Given the description of an element on the screen output the (x, y) to click on. 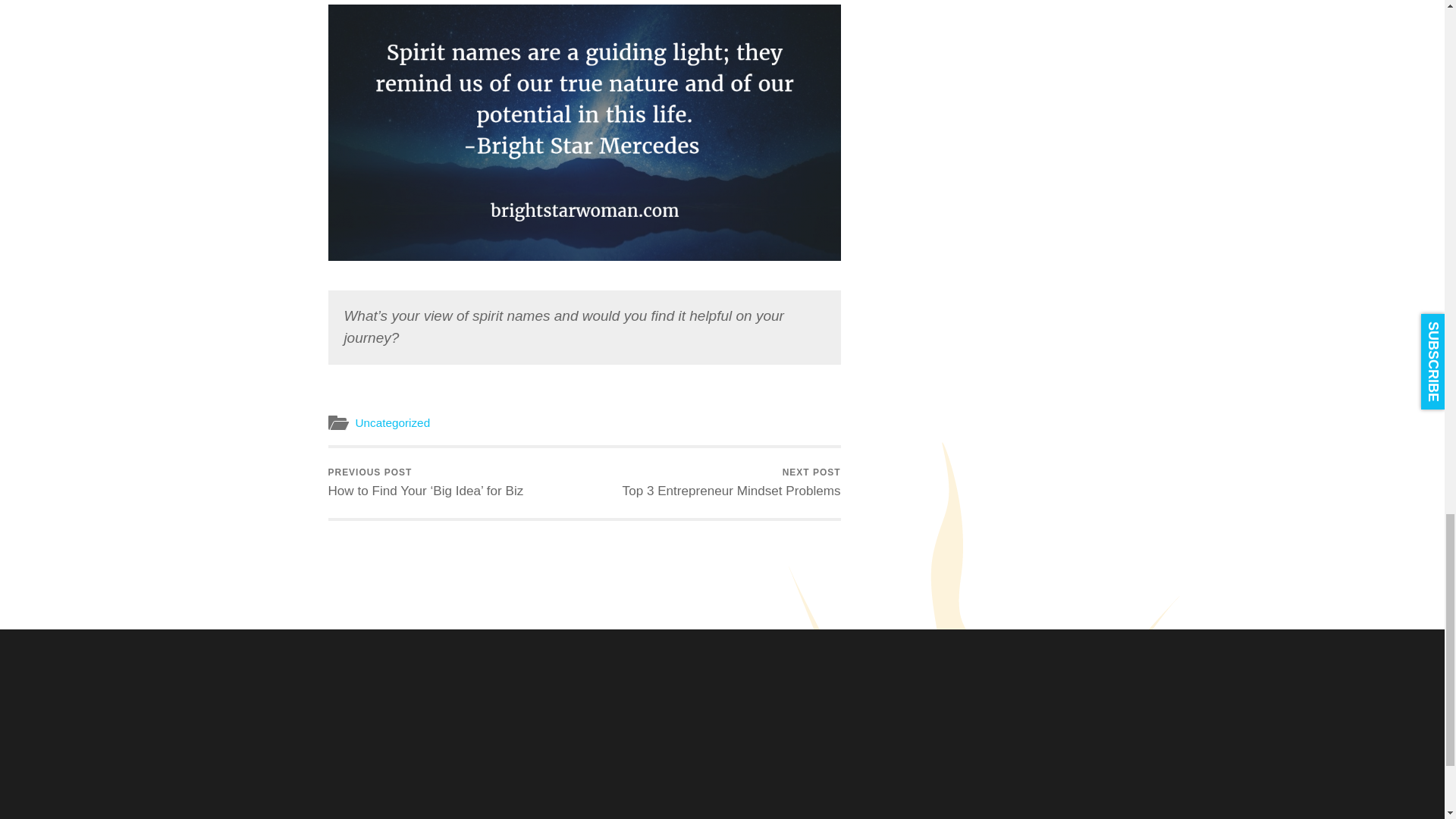
Next post: (732, 481)
Uncategorized (392, 422)
